Given the description of an element on the screen output the (x, y) to click on. 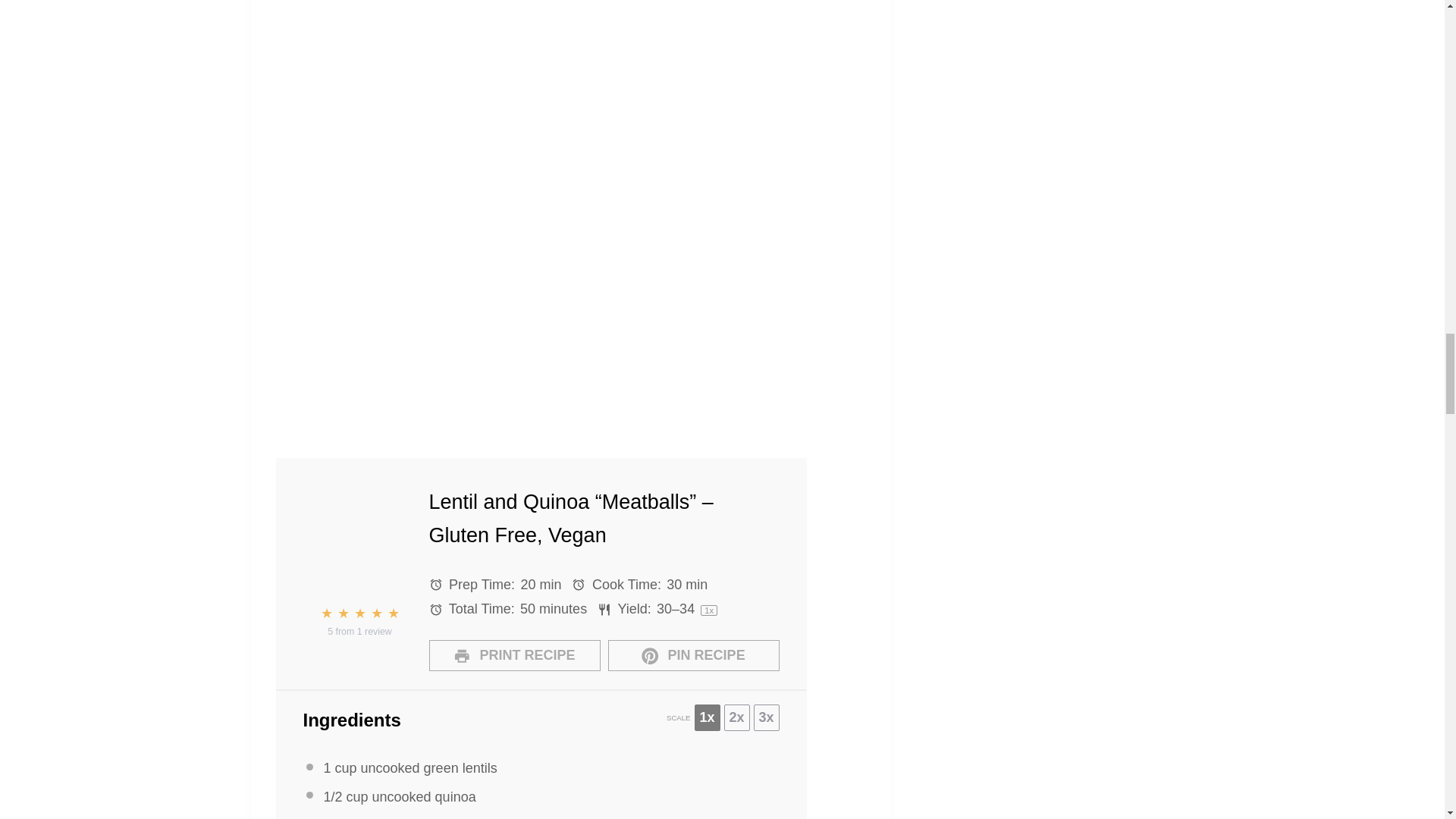
1x (707, 717)
PRINT RECIPE (514, 654)
PIN RECIPE (693, 654)
